Given the description of an element on the screen output the (x, y) to click on. 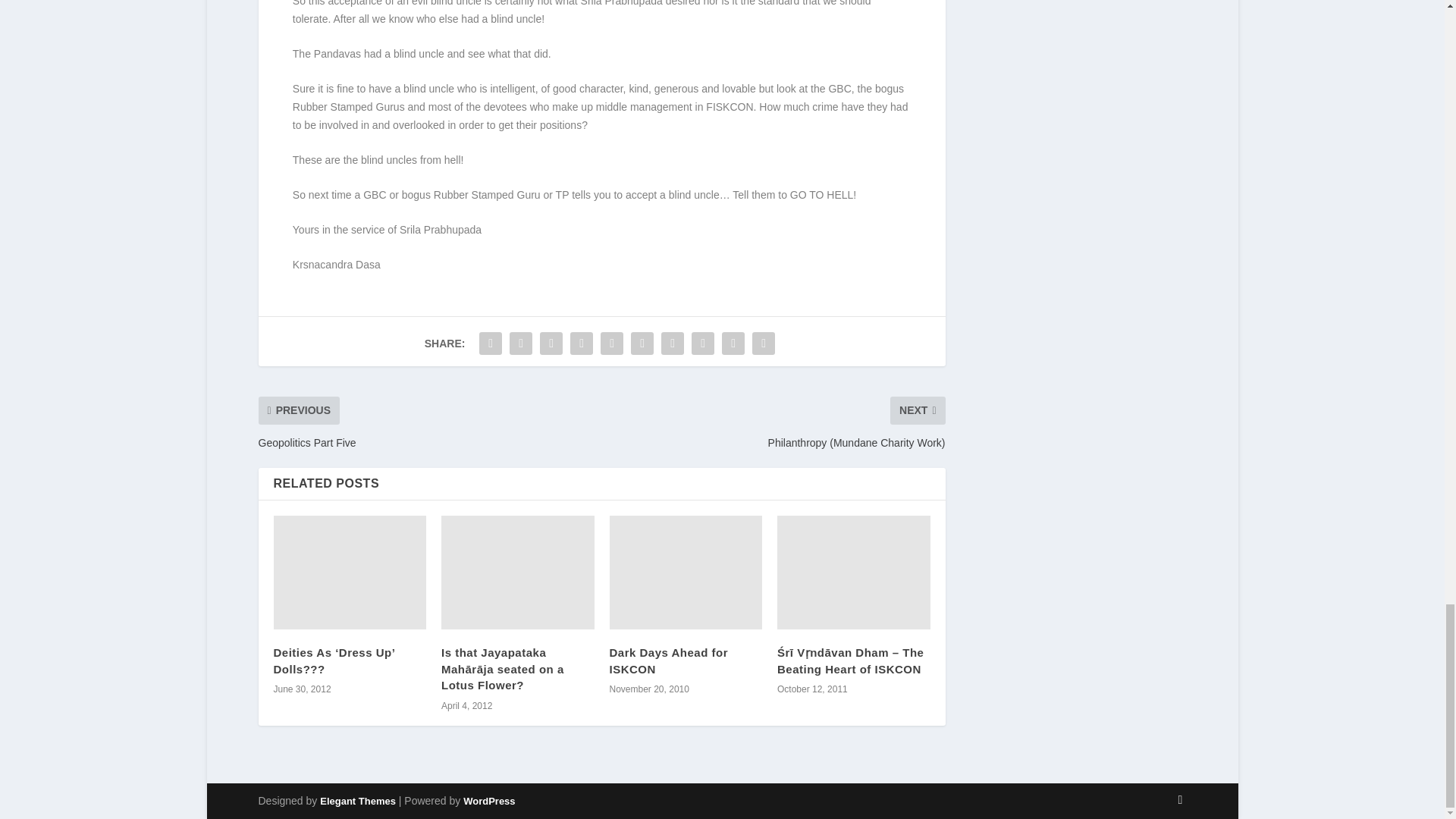
Share "A Blind Uncle Is Better Than No Uncle" via Tumblr (581, 343)
Share "A Blind Uncle Is Better Than No Uncle" via Facebook (490, 343)
Share "A Blind Uncle Is Better Than No Uncle" via Buffer (672, 343)
Share "A Blind Uncle Is Better Than No Uncle" via Print (763, 343)
Share "A Blind Uncle Is Better Than No Uncle" via Email (732, 343)
Share "A Blind Uncle Is Better Than No Uncle" via Pinterest (611, 343)
Share "A Blind Uncle Is Better Than No Uncle" via LinkedIn (642, 343)
Share "A Blind Uncle Is Better Than No Uncle" via Twitter (520, 343)
Dark Days Ahead for ISKCON (686, 572)
Premium WordPress Themes (358, 800)
Dark Days Ahead for ISKCON (669, 660)
